Given the description of an element on the screen output the (x, y) to click on. 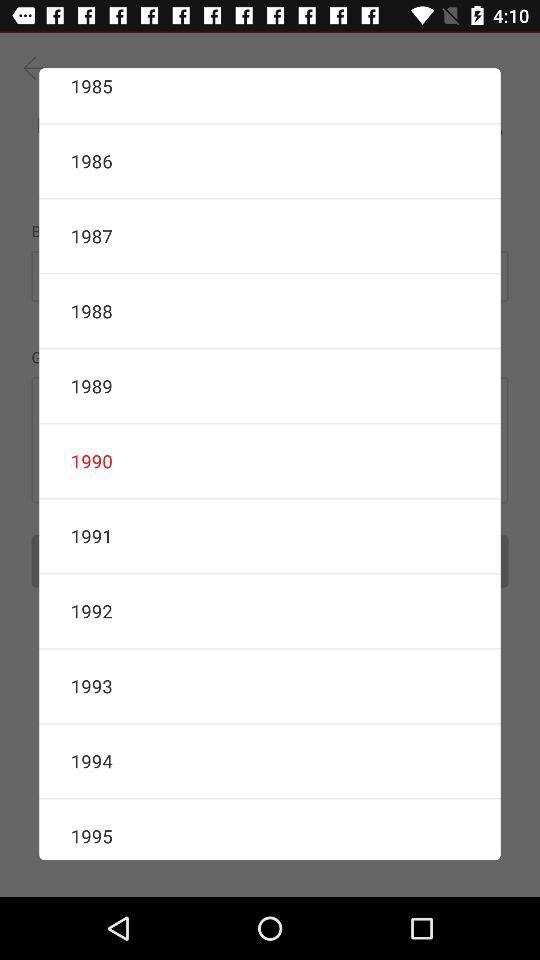
choose the icon below 1993 item (269, 761)
